Given the description of an element on the screen output the (x, y) to click on. 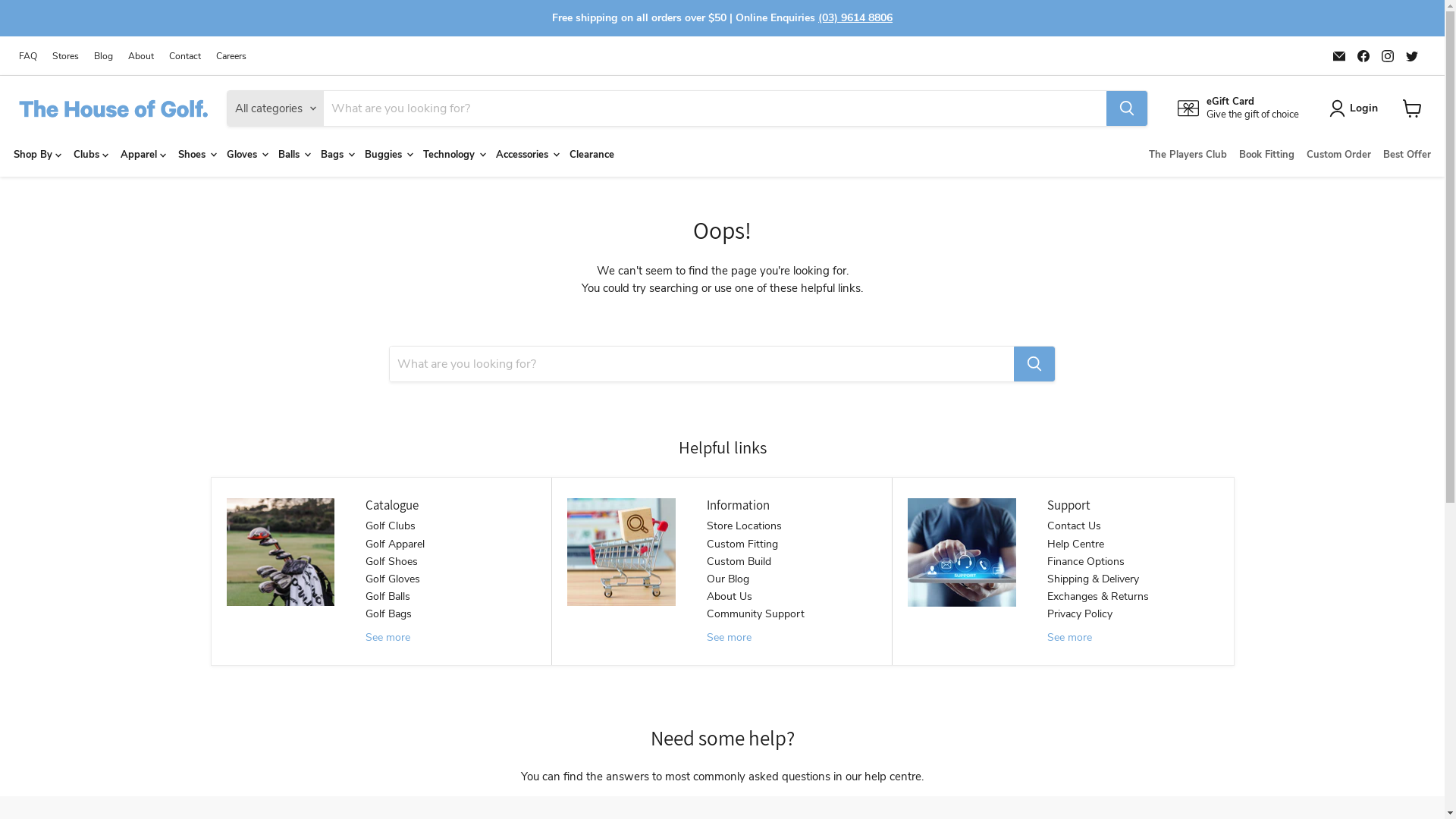
Contact Element type: text (184, 55)
Contact Us Element type: text (1074, 525)
Golf Shoes Element type: text (391, 561)
Email The House of Golf Element type: text (1338, 55)
Careers Element type: text (231, 55)
See more Element type: text (1069, 637)
Custom Fitting Element type: text (742, 544)
Golf Balls Element type: text (387, 596)
Login Element type: text (1356, 108)
Find us on Instagram Element type: text (1387, 55)
Our Blog Element type: text (727, 578)
Golf Bags Element type: text (388, 613)
Best Offer Element type: text (1407, 154)
Golf Gloves Element type: text (392, 578)
Golf Apparel Element type: text (394, 544)
Help Centre Element type: text (1075, 544)
Community Support Element type: text (755, 613)
Shipping & Delivery Element type: text (1093, 578)
FAQ Element type: text (27, 55)
Find us on Twitter Element type: text (1411, 55)
Stores Element type: text (65, 55)
Blog Element type: text (103, 55)
Store Locations Element type: text (743, 525)
Golf Clubs Element type: text (390, 525)
Finance Options Element type: text (1085, 561)
See more Element type: text (728, 637)
See more Element type: text (387, 637)
Book Fitting Element type: text (1266, 154)
Privacy Policy Element type: text (1079, 613)
Clearance Element type: text (591, 154)
eGift Card
Give the gift of choice Element type: text (1238, 108)
Exchanges & Returns Element type: text (1097, 596)
The Players Club Element type: text (1187, 154)
Find us on Facebook Element type: text (1363, 55)
(03) 9614 8806 Element type: text (855, 17)
Custom Build Element type: text (738, 561)
Custom Order Element type: text (1338, 154)
View cart Element type: text (1412, 108)
About Us Element type: text (729, 596)
About Element type: text (140, 55)
